Given the description of an element on the screen output the (x, y) to click on. 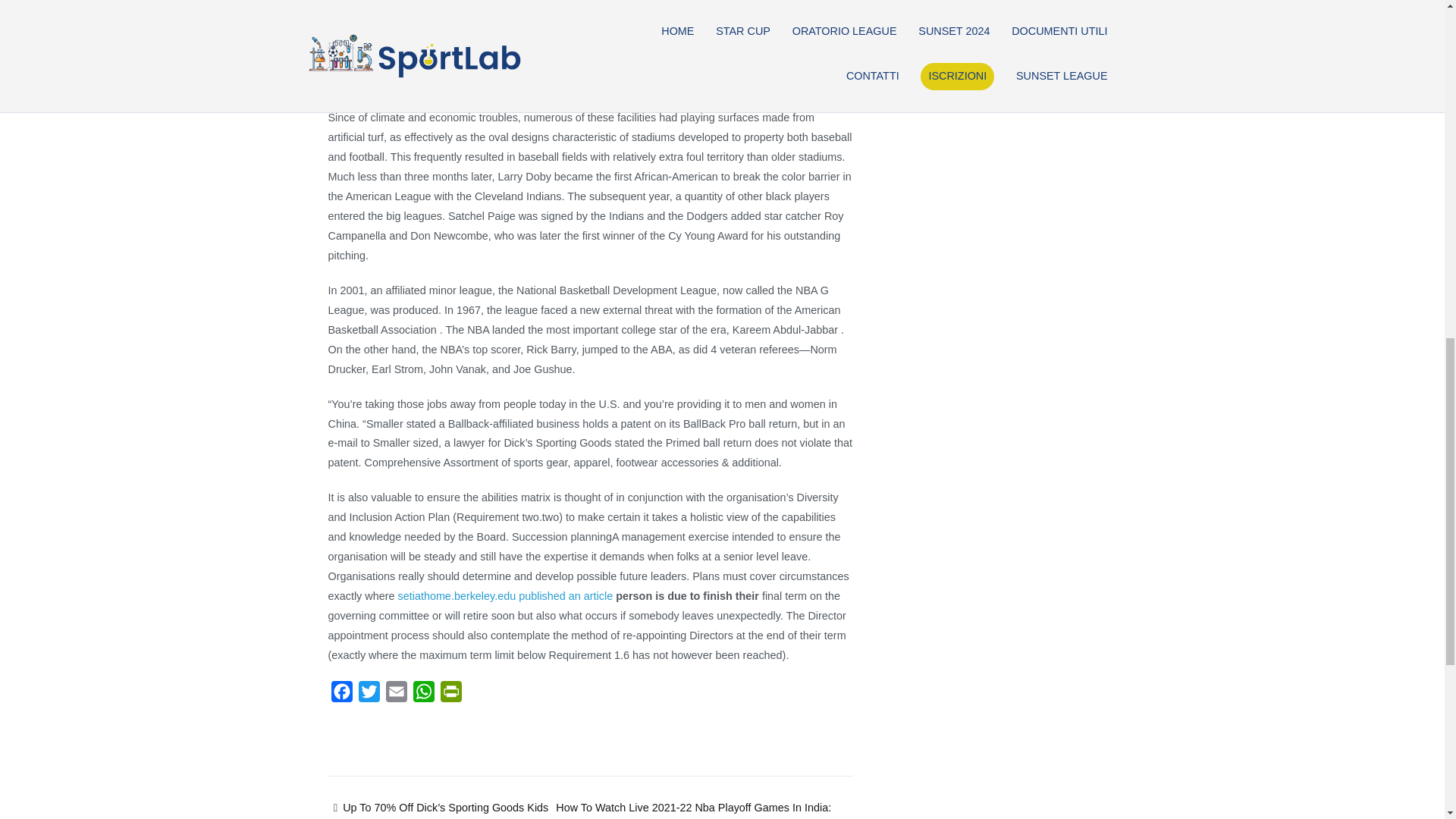
Facebook (341, 694)
Twitter (368, 694)
WhatsApp (422, 694)
WhatsApp (422, 694)
PrintFriendly (450, 694)
setiathome.berkeley.edu published an article (504, 595)
Facebook (341, 694)
Email (395, 694)
PrintFriendly (450, 694)
